Given the description of an element on the screen output the (x, y) to click on. 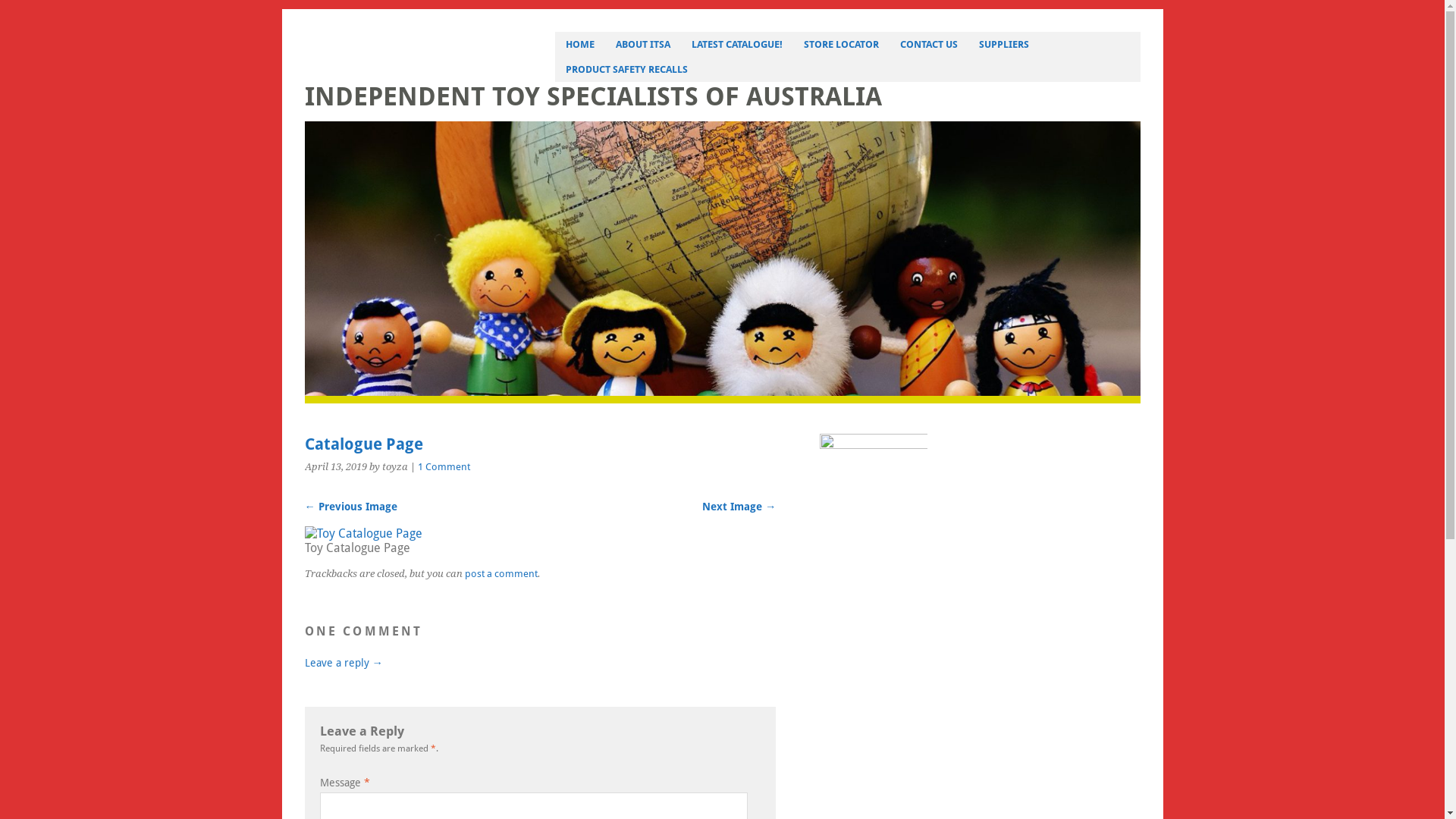
ABOUT ITSA Element type: text (642, 43)
LATEST CATALOGUE! Element type: text (736, 43)
Catalogue Page Element type: hover (363, 533)
1 Comment Element type: text (443, 466)
INDEPENDENT TOY SPECIALISTS OF AUSTRALIA Element type: text (592, 96)
STORE LOCATOR Element type: text (841, 43)
CONTACT US Element type: text (928, 43)
HOME Element type: text (580, 43)
post a comment Element type: text (500, 567)
SUPPLIERS Element type: text (1003, 43)
PRODUCT SAFETY RECALLS Element type: text (626, 68)
